Given the description of an element on the screen output the (x, y) to click on. 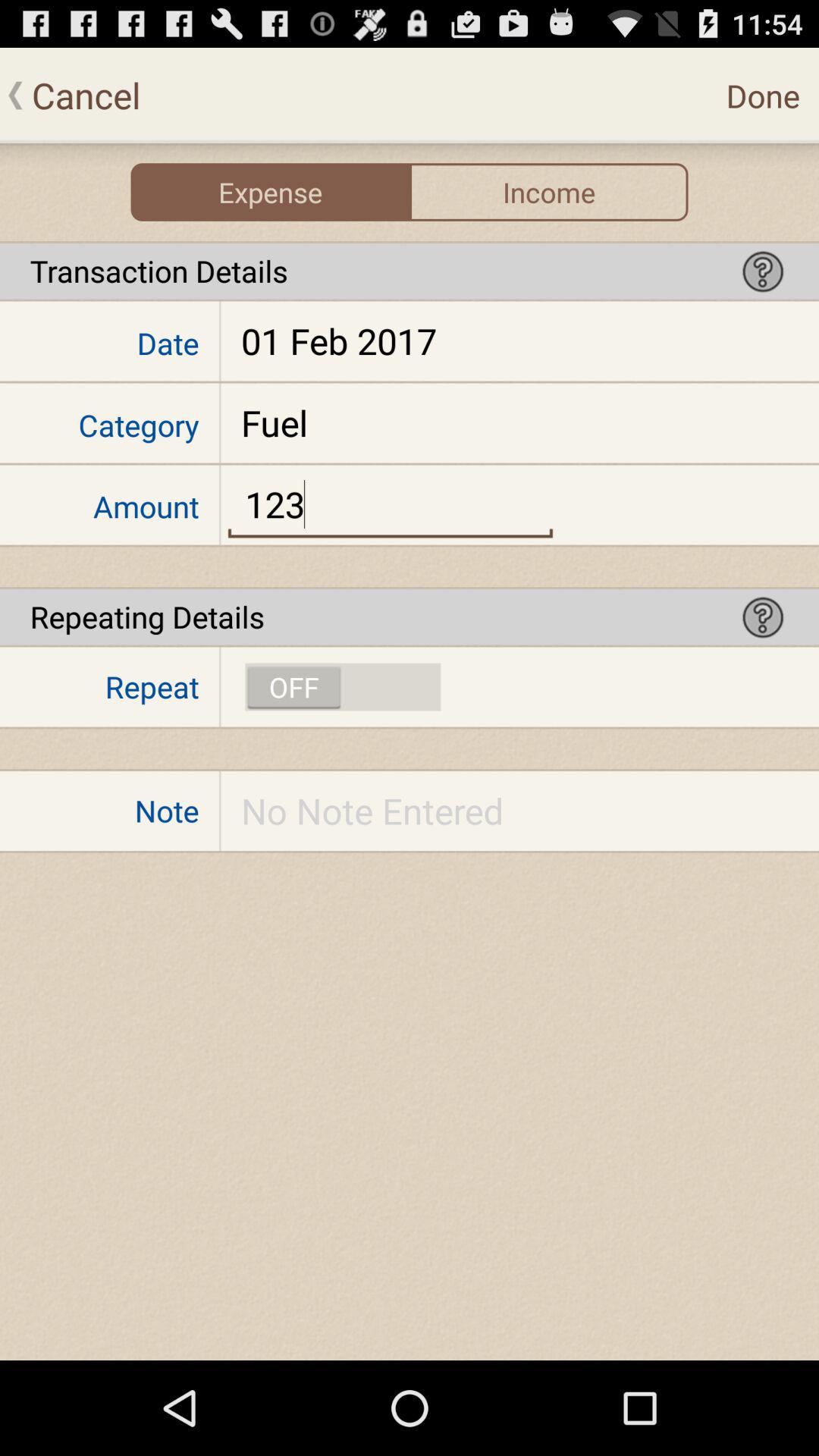
toggle repeat function (342, 686)
